Given the description of an element on the screen output the (x, y) to click on. 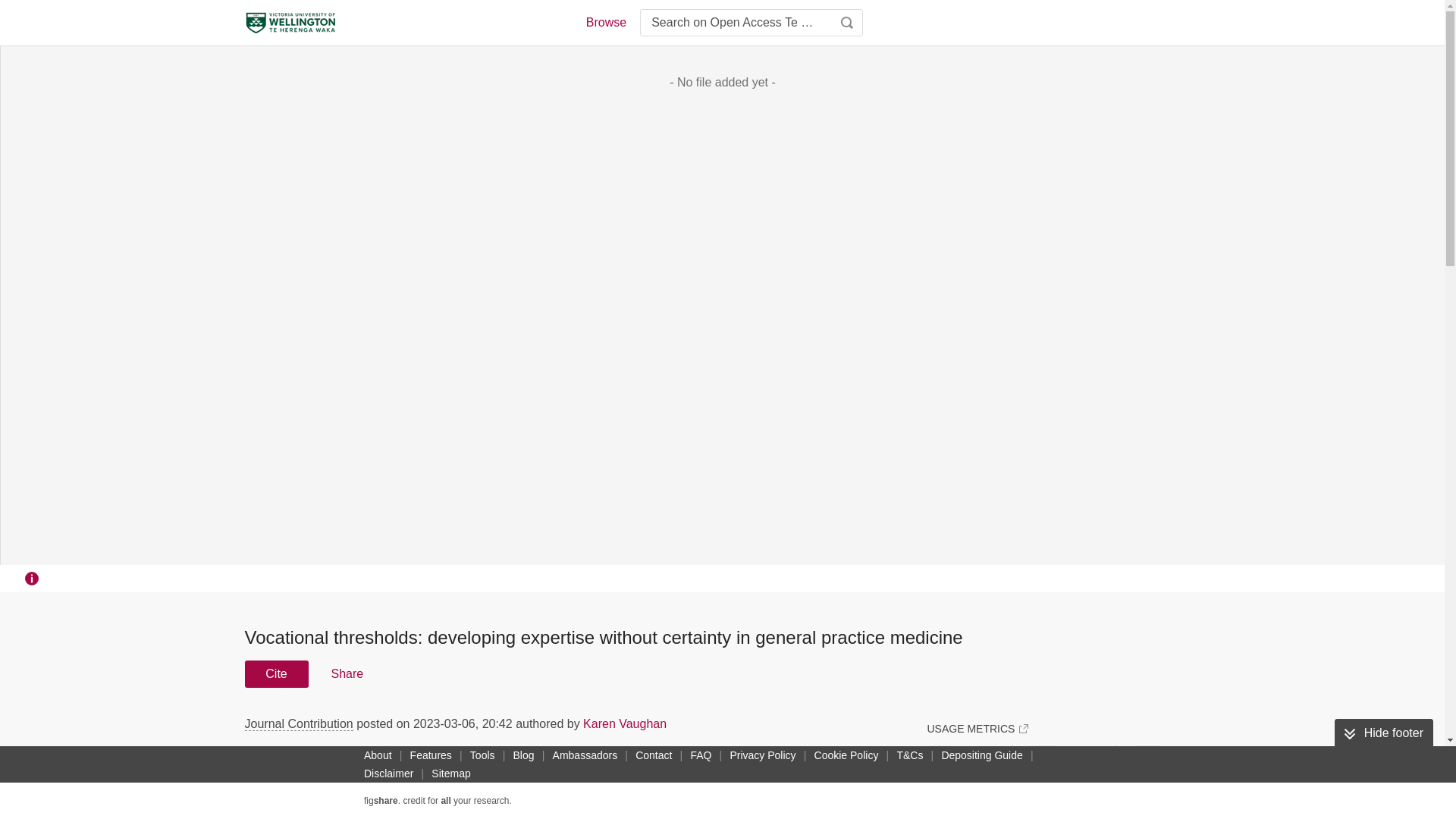
Karen Vaughan (624, 723)
Hide footer (1383, 733)
Browse (605, 22)
USAGE METRICS (976, 728)
Cite (275, 673)
Share (346, 673)
About (377, 755)
